Given the description of an element on the screen output the (x, y) to click on. 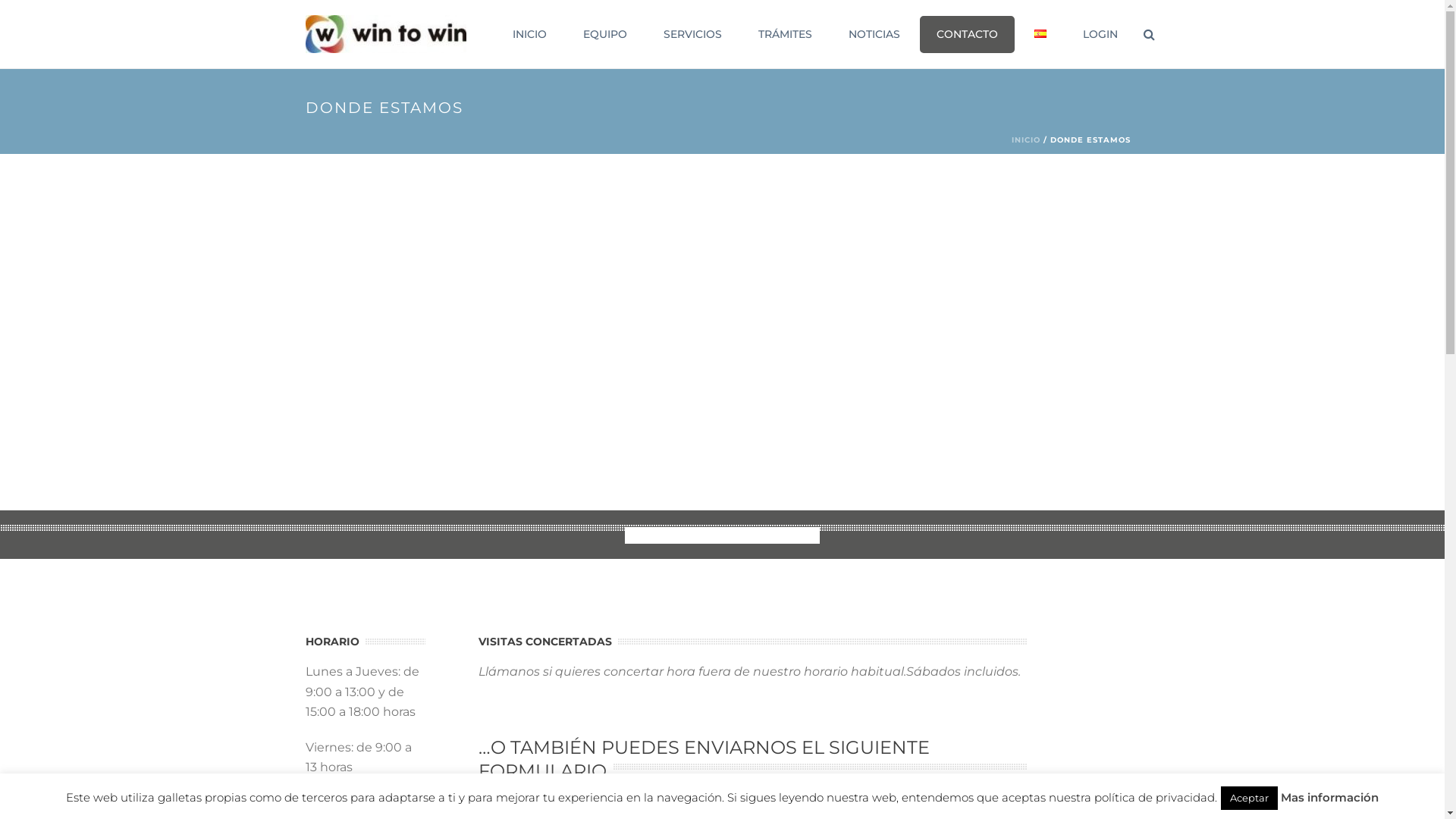
INICIO Element type: text (1025, 139)
CONTACTO Element type: text (966, 34)
Aceptar Element type: text (1248, 797)
EQUIPO Element type: text (604, 34)
SERVICIOS Element type: text (691, 34)
INICIO Element type: text (529, 34)
NOTICIAS Element type: text (873, 34)
LOGIN Element type: text (1100, 34)
